Given the description of an element on the screen output the (x, y) to click on. 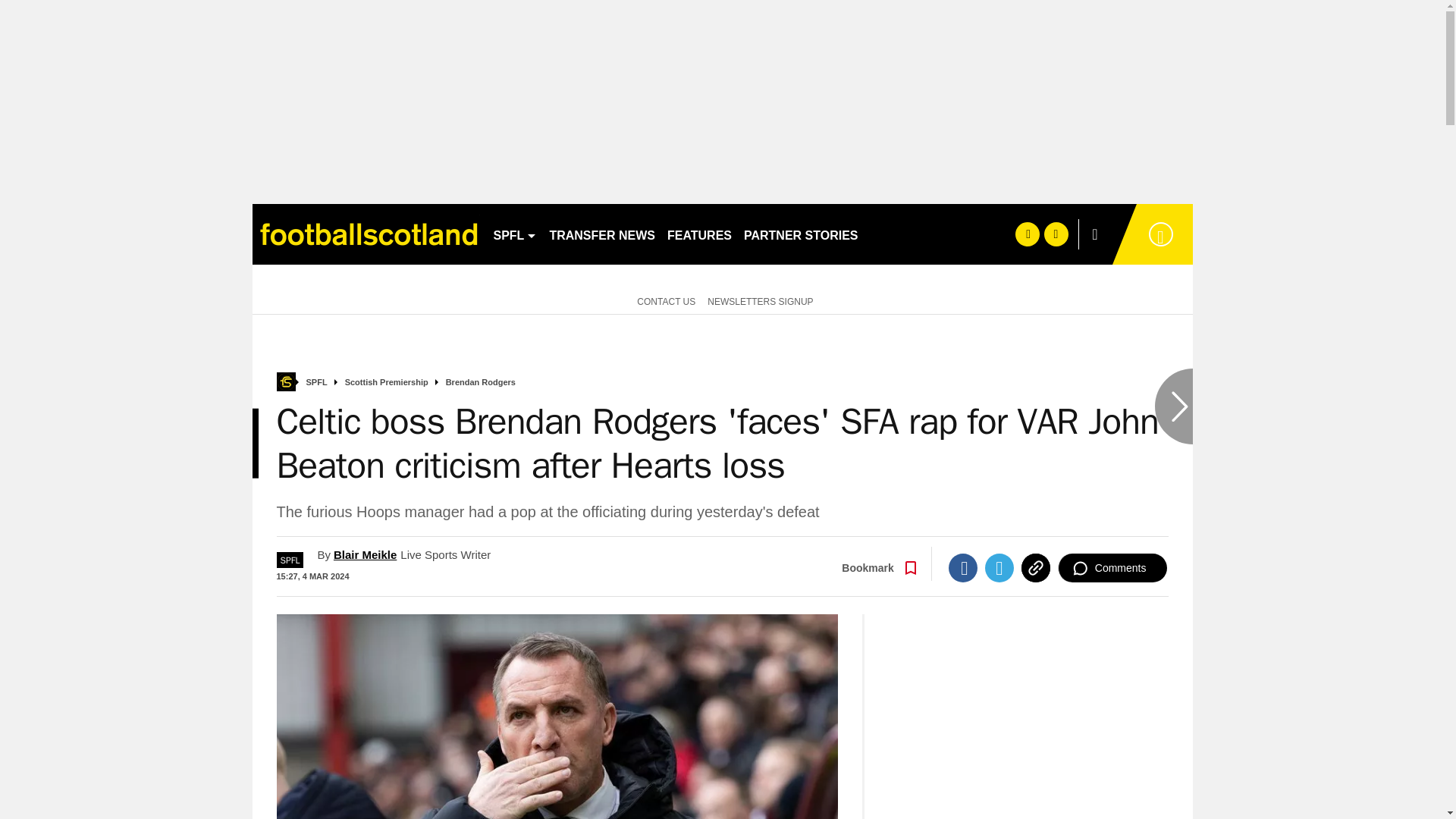
twitter (1055, 233)
footballscotland (365, 233)
SPFL (514, 233)
Scottish Premiership (386, 382)
PARTNER STORIES (801, 233)
Comments (1112, 567)
Twitter (999, 567)
Comments (1112, 567)
SPFL (316, 382)
NEWSLETTERS SIGNUP (759, 300)
FEATURES (699, 233)
TRANSFER NEWS (602, 233)
facebook (1026, 233)
CONTACT US (662, 300)
frontpage (285, 381)
